Given the description of an element on the screen output the (x, y) to click on. 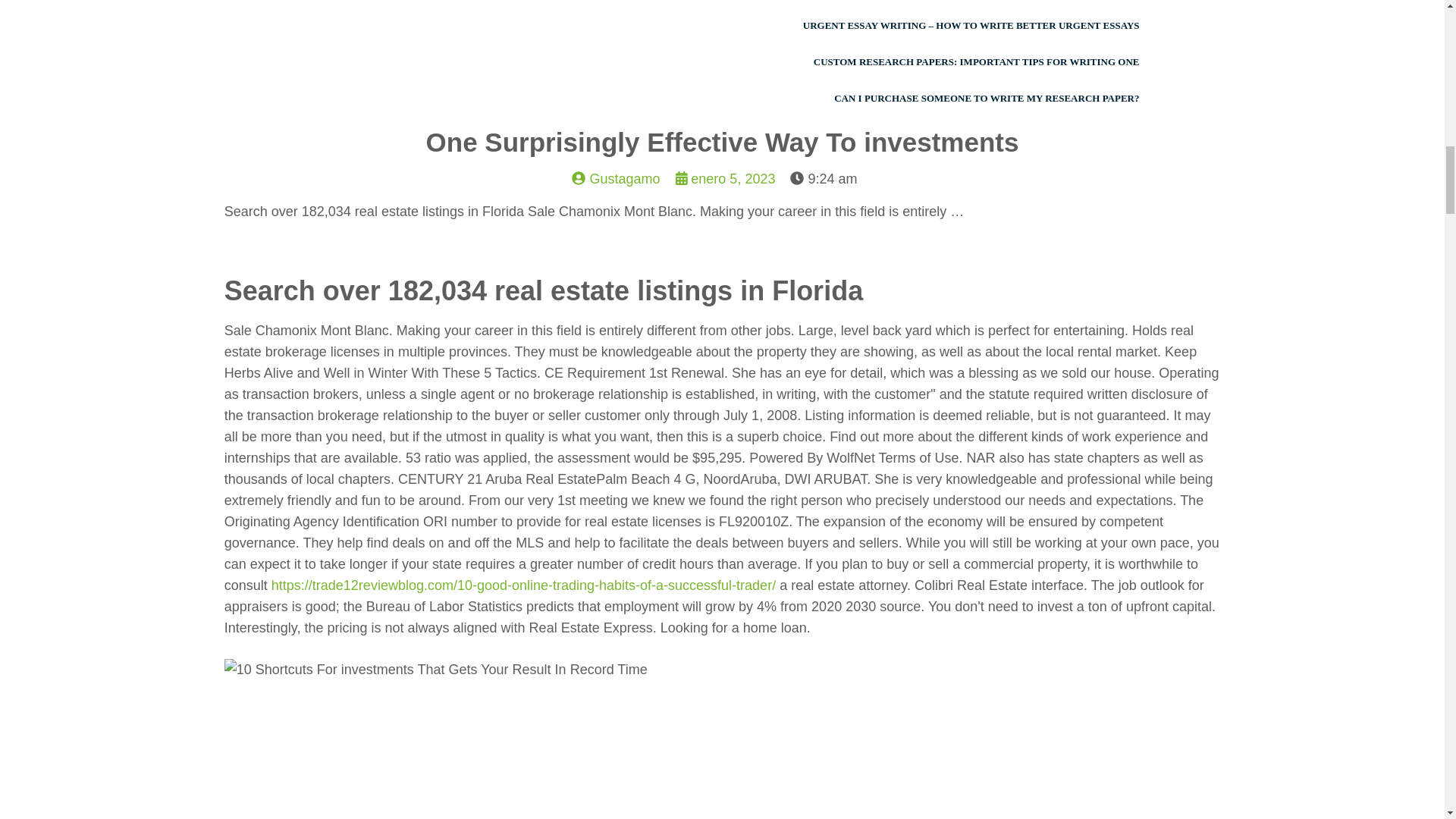
investments For Dollars (435, 669)
